Given the description of an element on the screen output the (x, y) to click on. 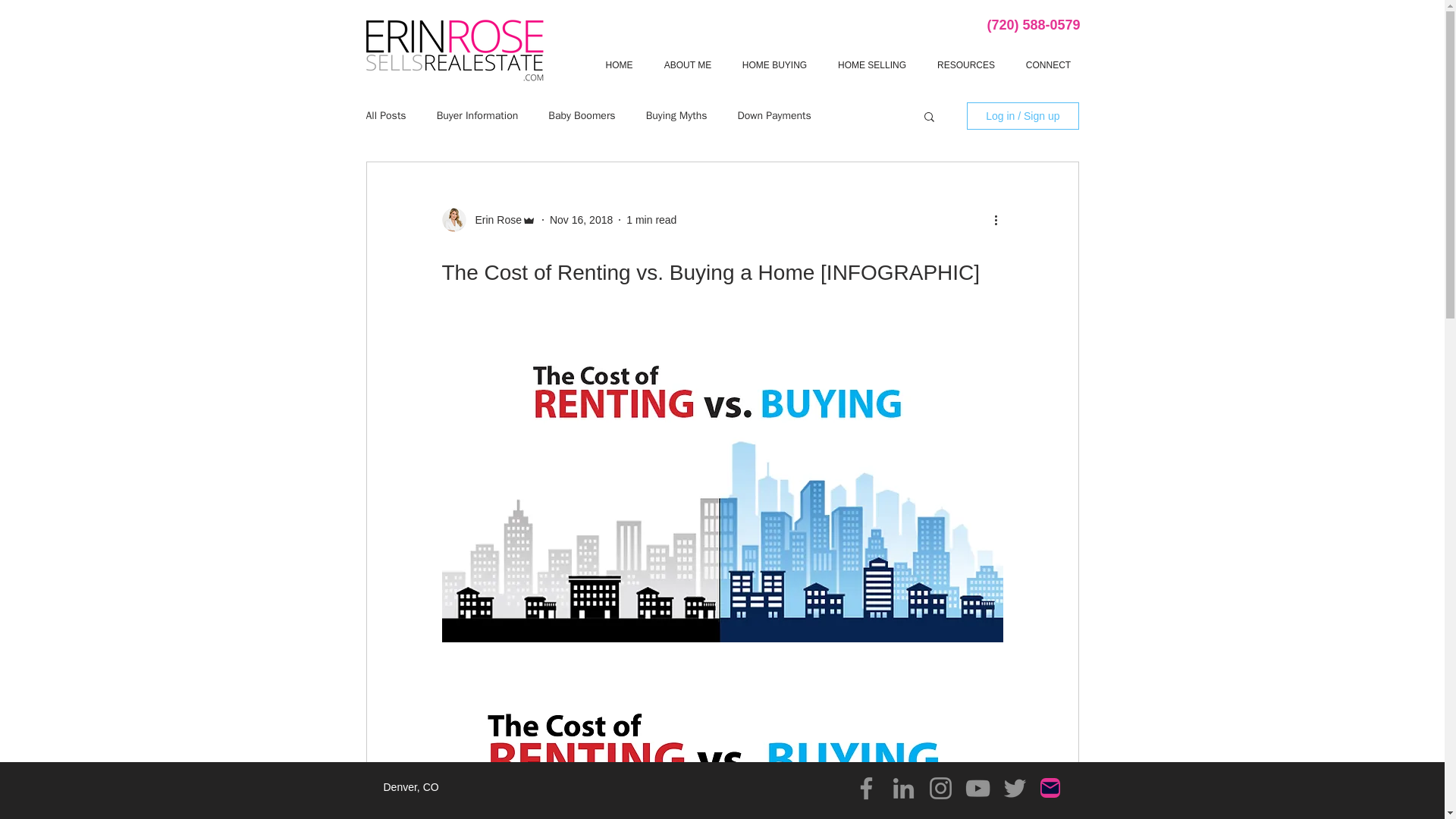
CONNECT (1048, 65)
Erin Rose (493, 220)
All Posts (385, 115)
Down Payments (773, 115)
HOME (619, 65)
Baby Boomers (581, 115)
Nov 16, 2018 (581, 219)
Buyer Information (477, 115)
Buying Myths (676, 115)
1 min read (651, 219)
